Given the description of an element on the screen output the (x, y) to click on. 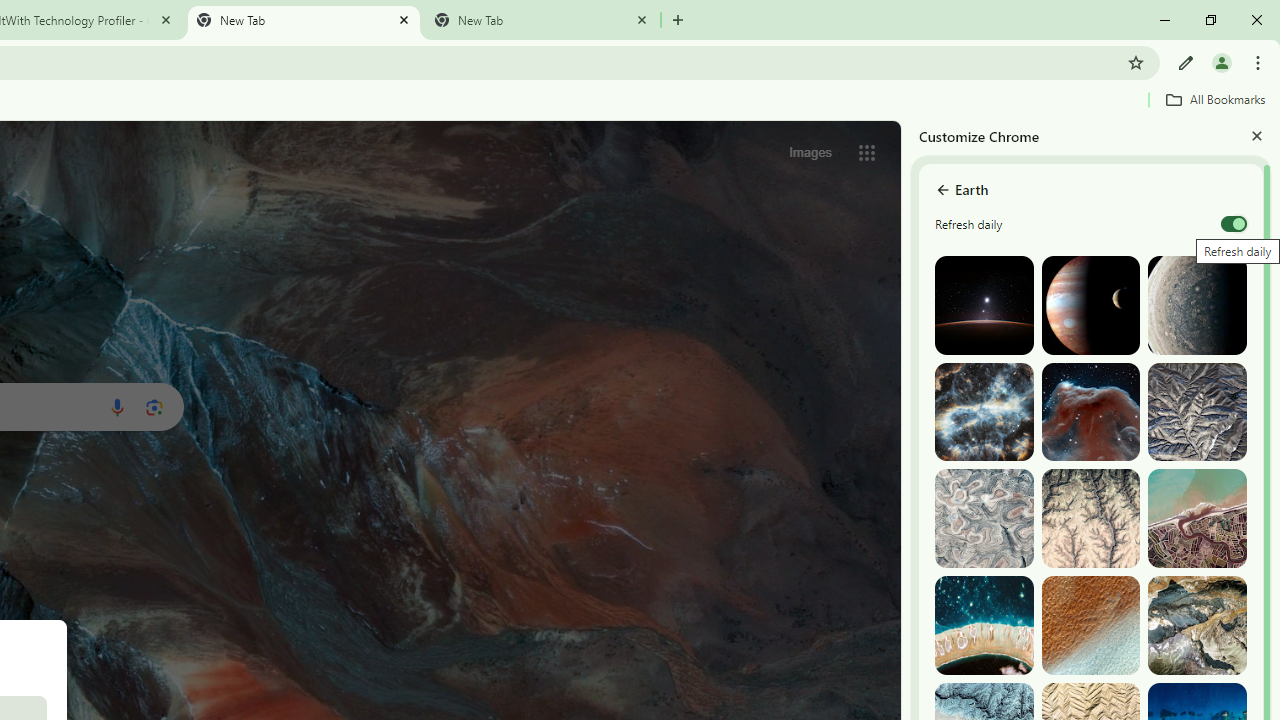
Refresh daily (1233, 223)
Nanggroe Aceh Darussalam, Indonesia (1197, 518)
Zermatt, Wallis, Switzerland (1197, 625)
New Tab (541, 20)
Sanaag, Somalia (1090, 518)
All Bookmarks (1215, 99)
Kelan, Shanxi, China (1197, 412)
Trarza, Mauritania (1090, 625)
Photo by NASA Image Library (1090, 412)
